Given the description of an element on the screen output the (x, y) to click on. 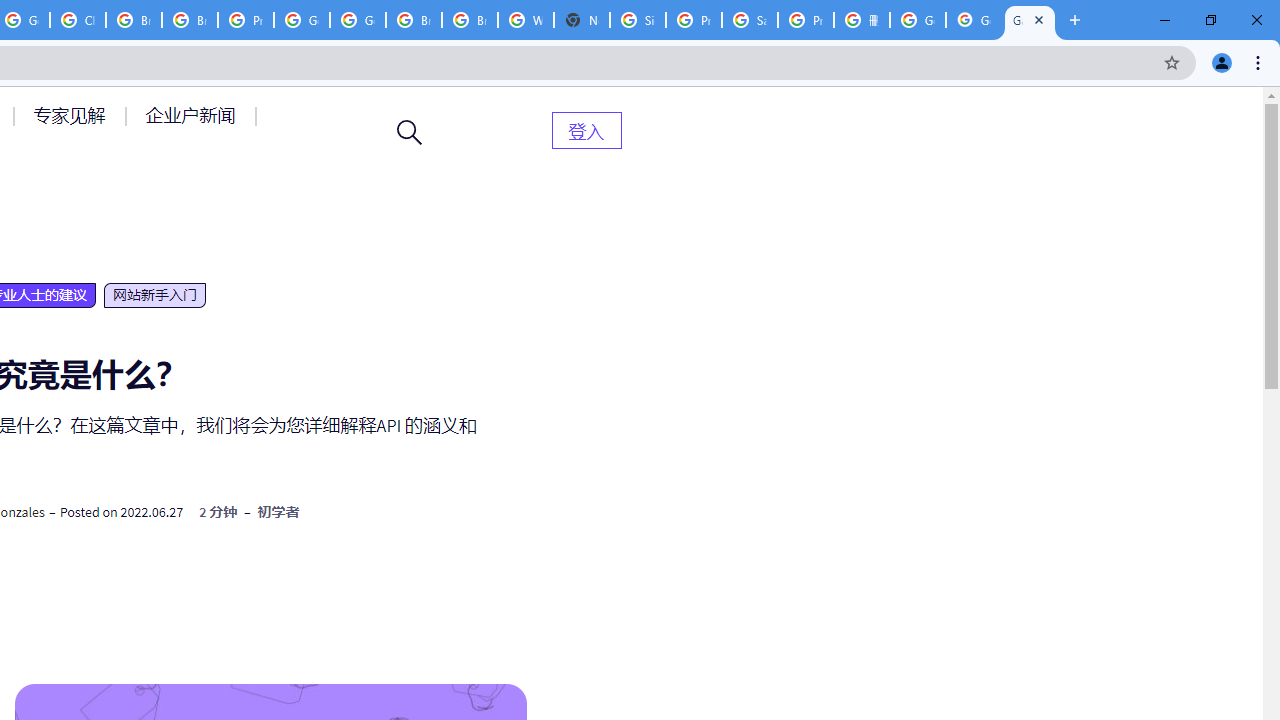
Browse Chrome as a guest - Computer - Google Chrome Help (189, 20)
Google Cloud Platform (301, 20)
Sign in - Google Accounts (637, 20)
Google Cloud Platform (358, 20)
Browse Chrome as a guest - Computer - Google Chrome Help (413, 20)
